Given the description of an element on the screen output the (x, y) to click on. 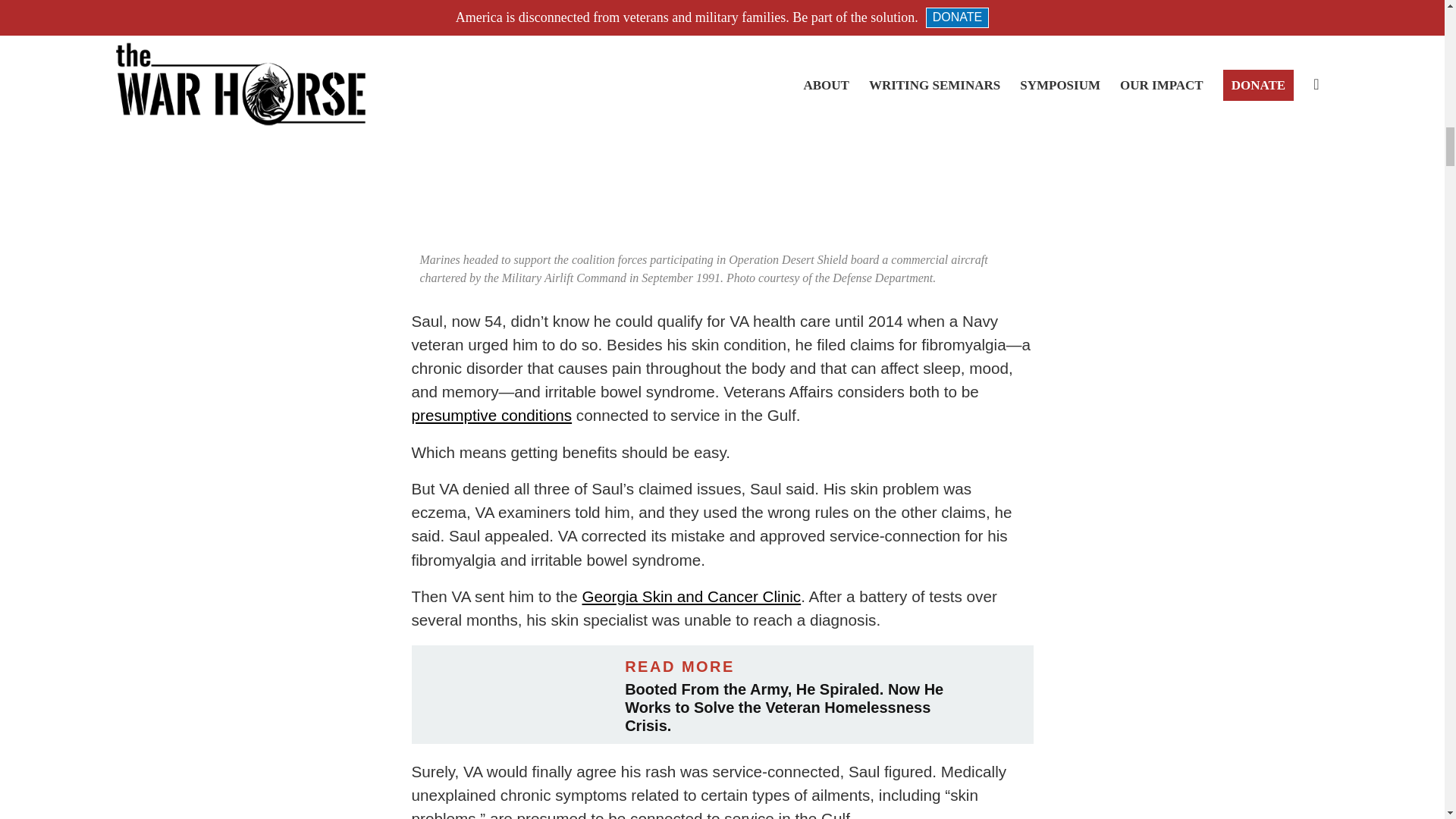
presumptive conditions (491, 415)
Georgia Skin and Cancer Clinic (692, 596)
